Given the description of an element on the screen output the (x, y) to click on. 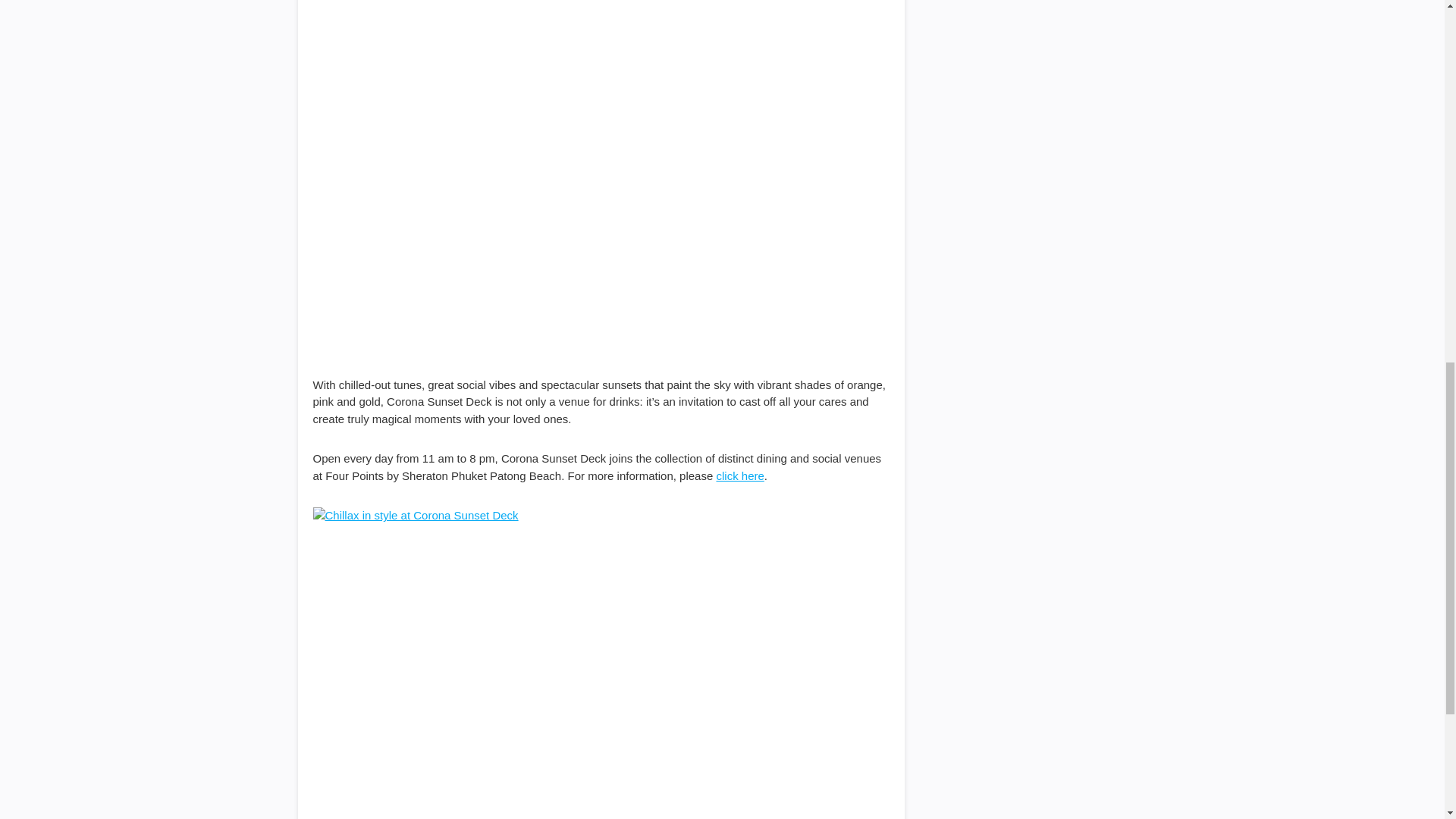
click here (739, 475)
